Given the description of an element on the screen output the (x, y) to click on. 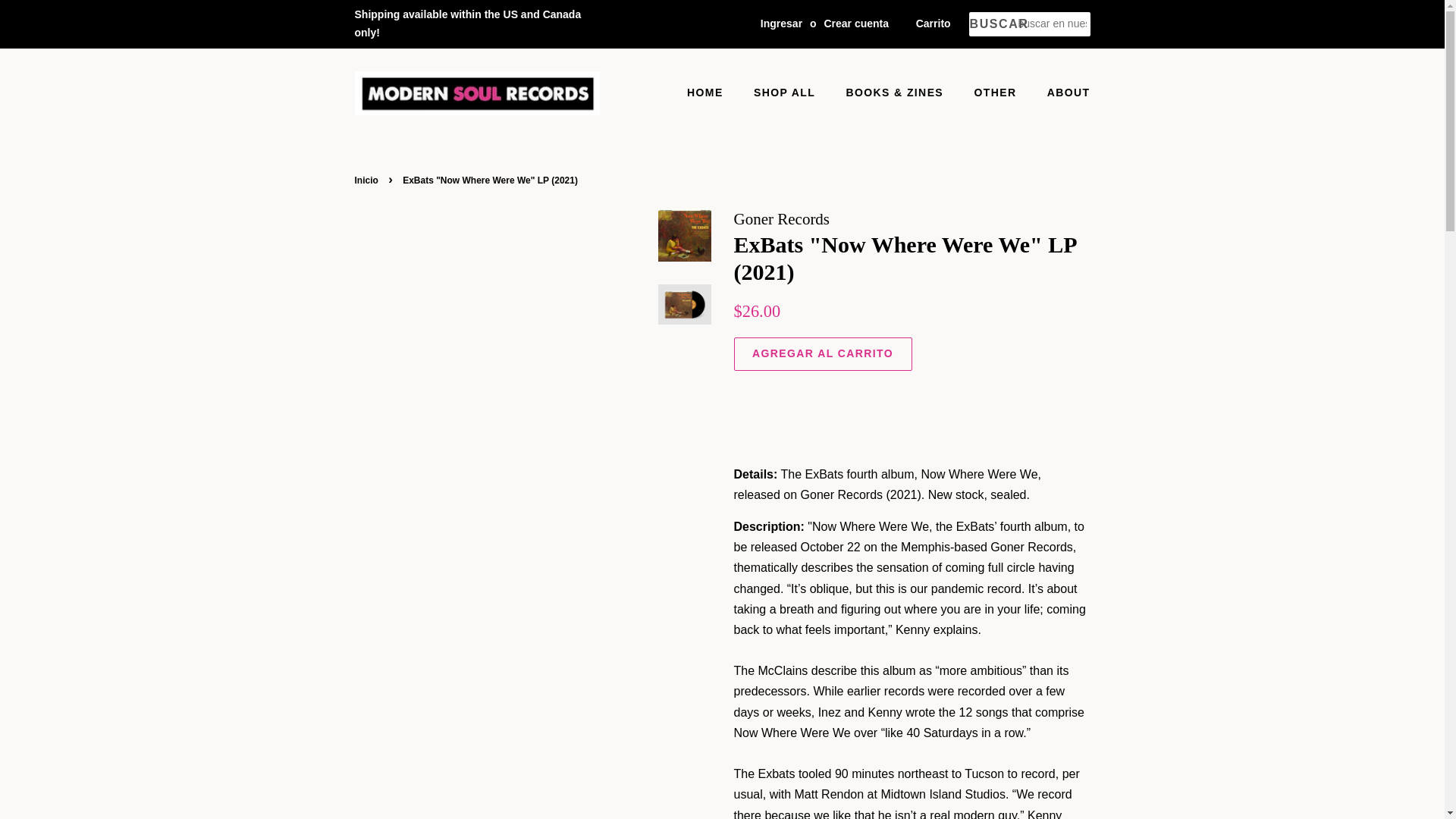
Volver a la portada (368, 180)
Ingresar (781, 23)
BUSCAR (993, 24)
Crear cuenta (856, 23)
Carrito (932, 24)
